Given the description of an element on the screen output the (x, y) to click on. 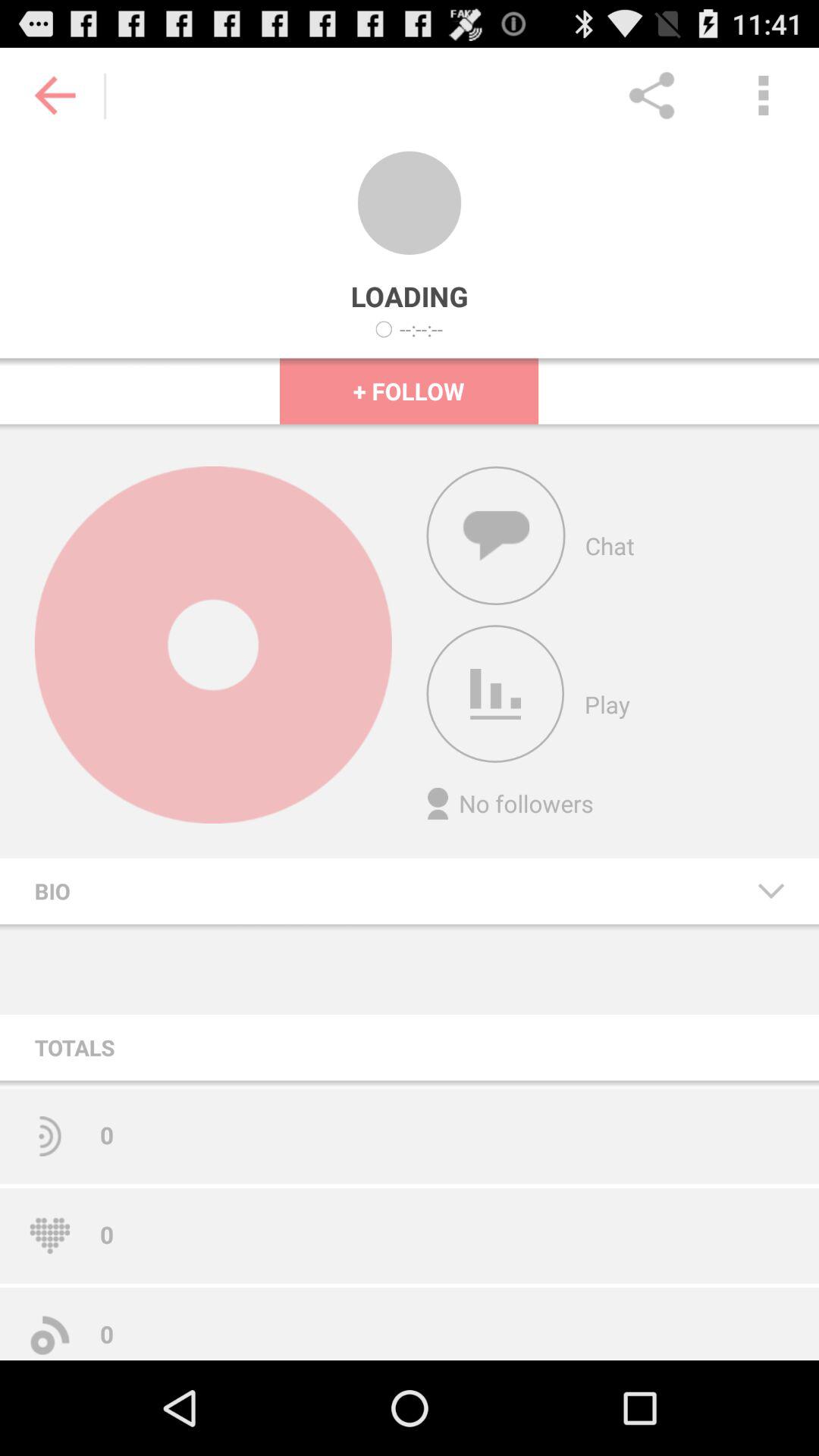
the toggle is used to open the chat (495, 535)
